Given the description of an element on the screen output the (x, y) to click on. 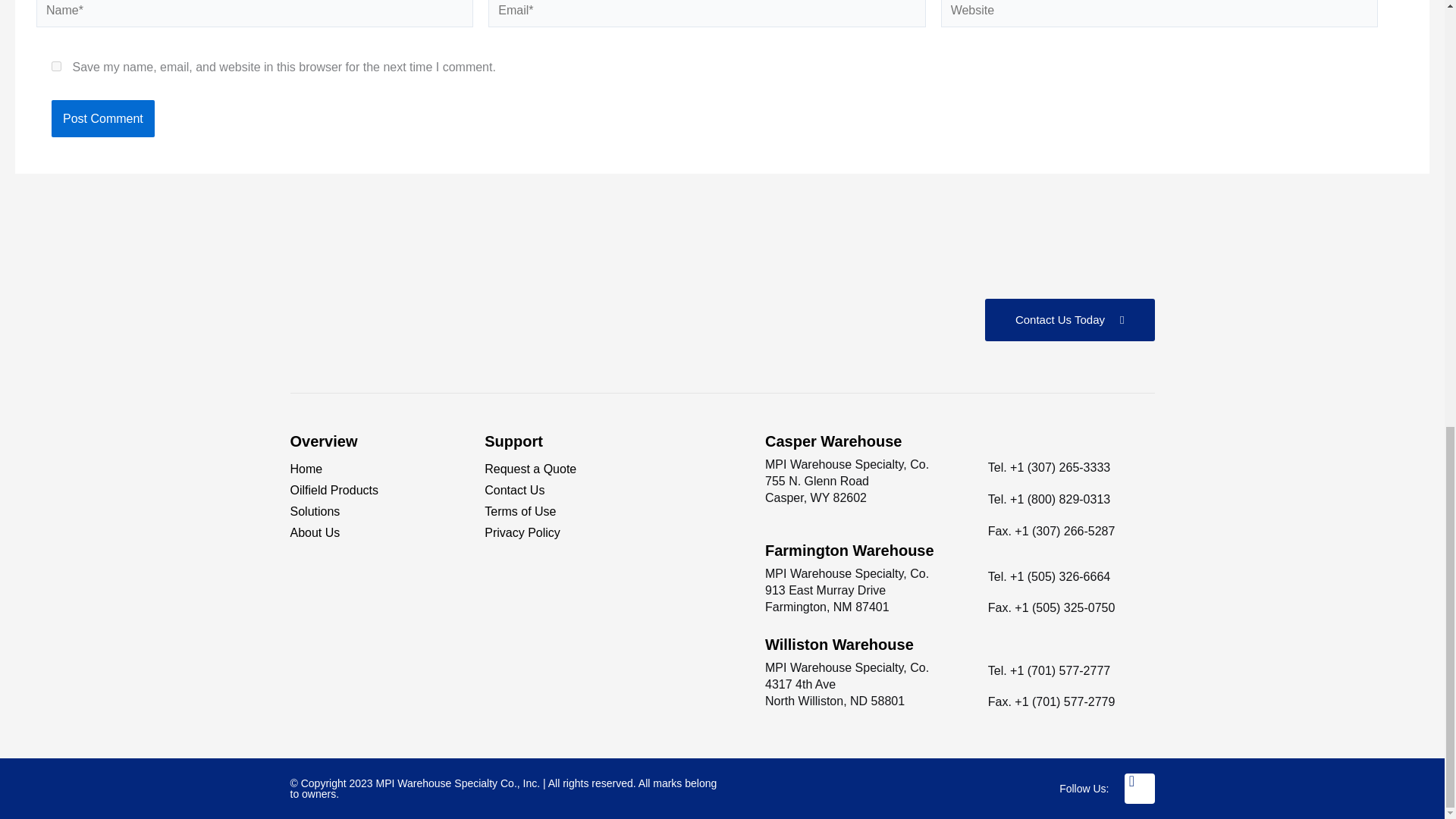
Post Comment (102, 118)
yes (55, 66)
